Given the description of an element on the screen output the (x, y) to click on. 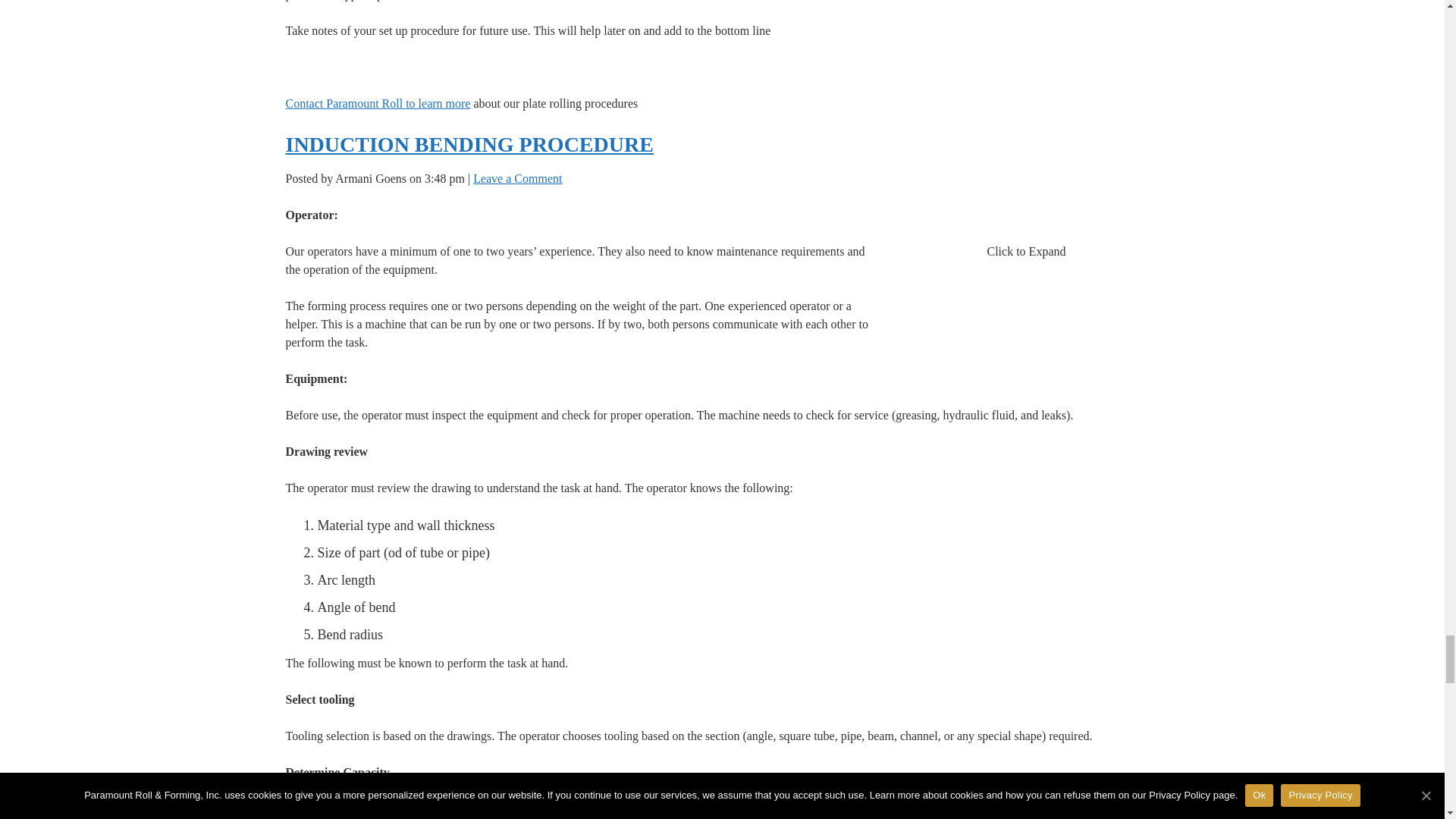
Permalink to INDUCTION BENDING PROCEDURE (468, 144)
